Given the description of an element on the screen output the (x, y) to click on. 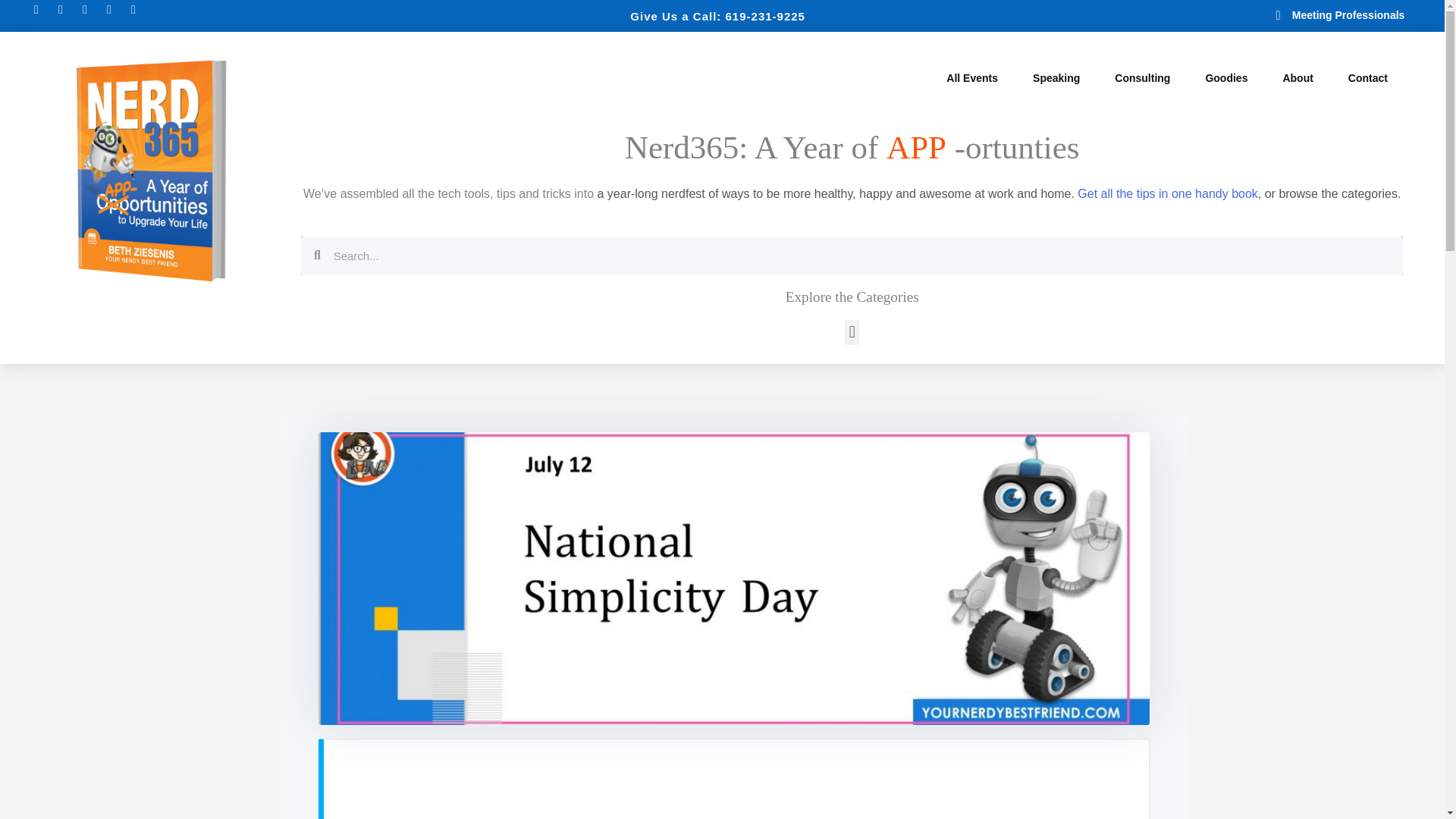
All Events (972, 78)
Search (861, 255)
Consulting (1142, 78)
Speaking (1055, 78)
Get all the tips in one handy book (1167, 193)
Contact (1368, 78)
Meeting Professionals (1294, 15)
Goodies (1225, 78)
